Given the description of an element on the screen output the (x, y) to click on. 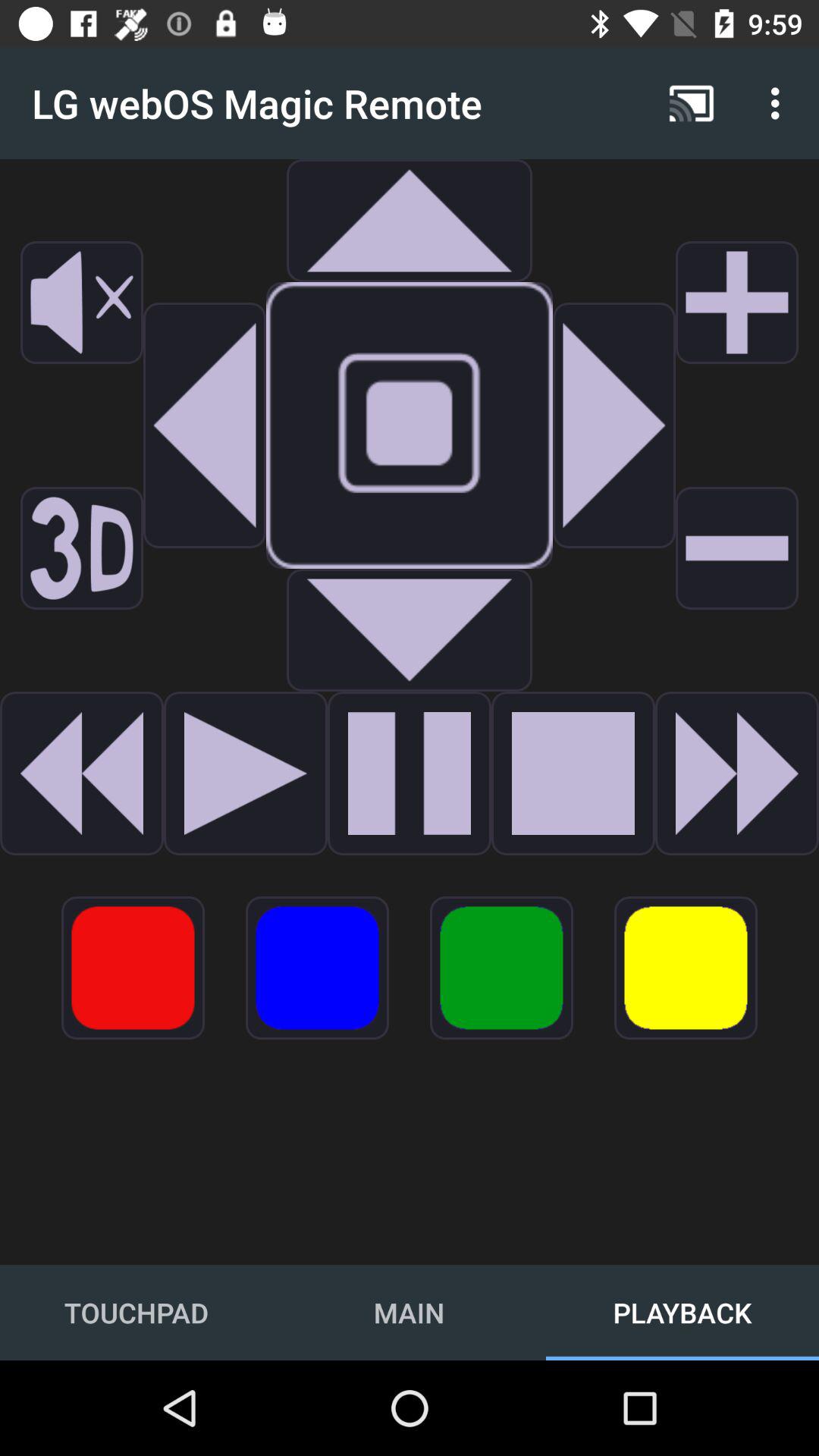
toggle mute (81, 302)
